Given the description of an element on the screen output the (x, y) to click on. 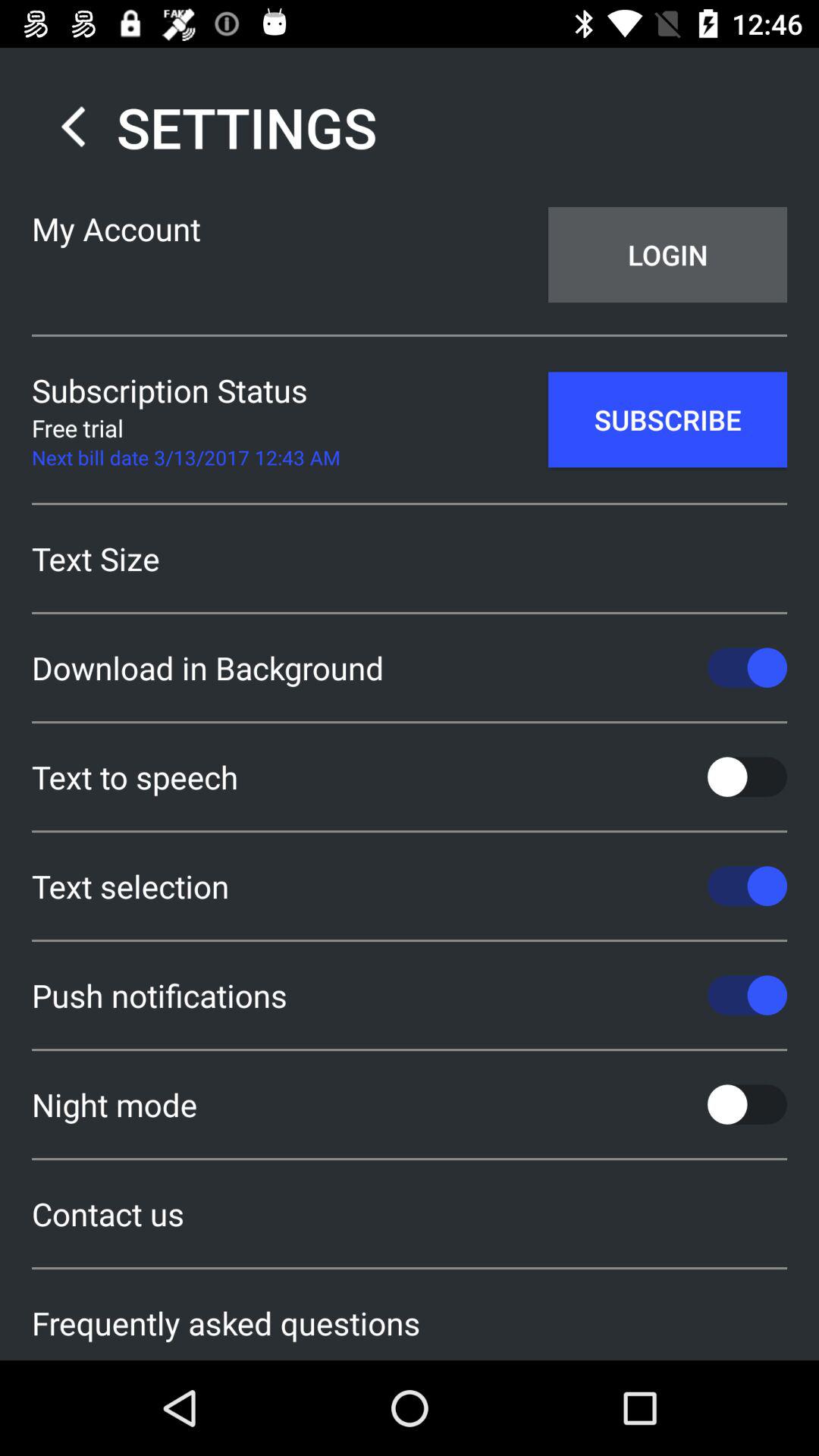
jump until push notifications icon (409, 994)
